Given the description of an element on the screen output the (x, y) to click on. 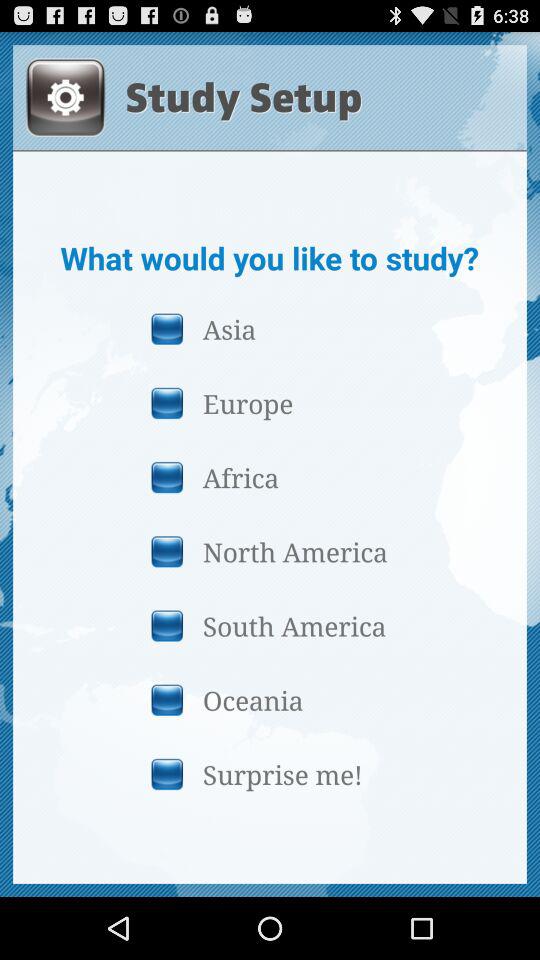
flip until the south america item (269, 625)
